Given the description of an element on the screen output the (x, y) to click on. 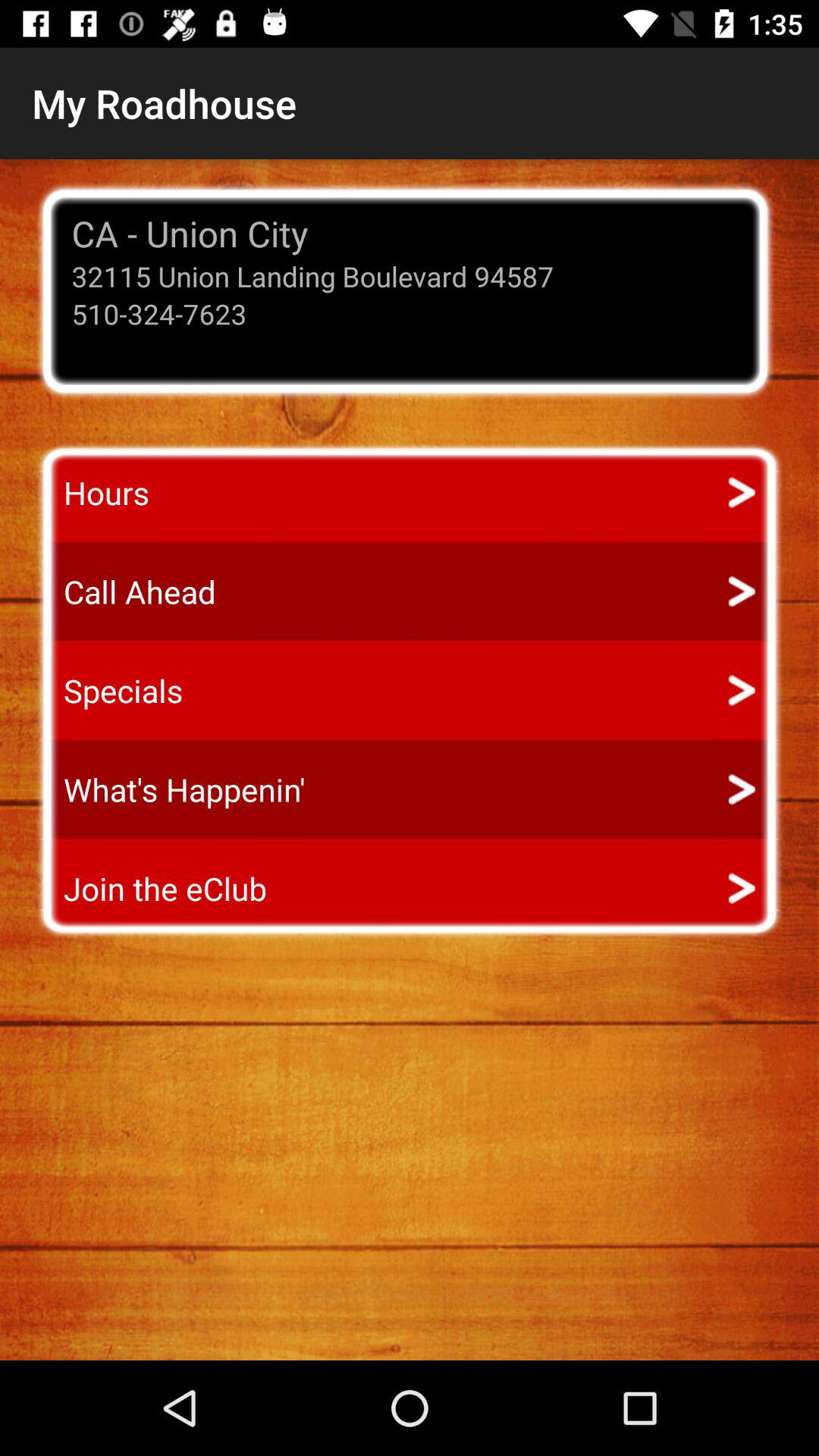
turn on item below the specials icon (170, 789)
